Given the description of an element on the screen output the (x, y) to click on. 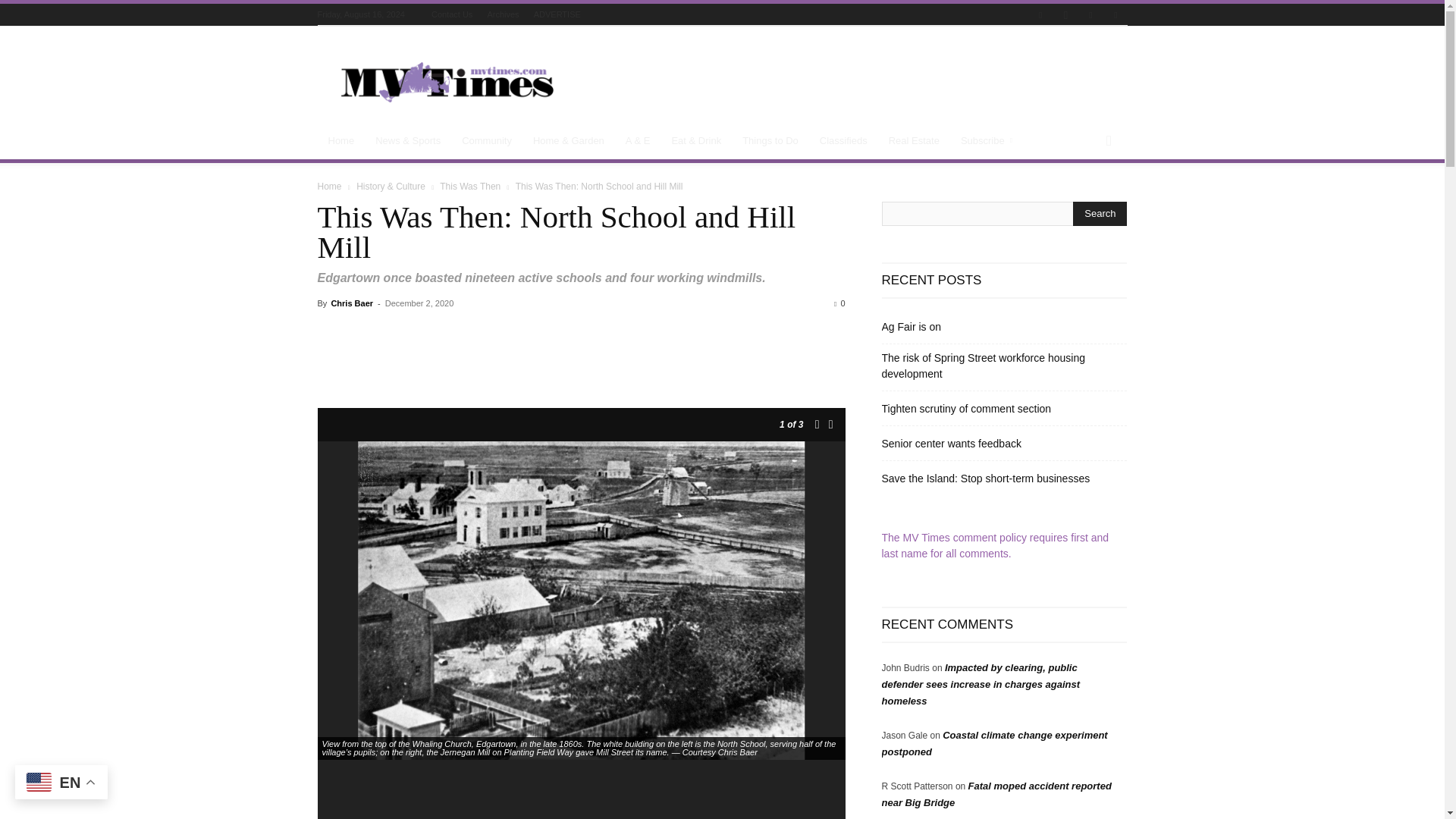
ADVERTISE (557, 13)
Real Estate (913, 140)
Search (1099, 213)
Youtube (1114, 14)
Facebook (1040, 14)
Twitter (1090, 14)
Subscribe (988, 140)
Instagram (1065, 14)
Archives (502, 13)
Home (341, 140)
